Given the description of an element on the screen output the (x, y) to click on. 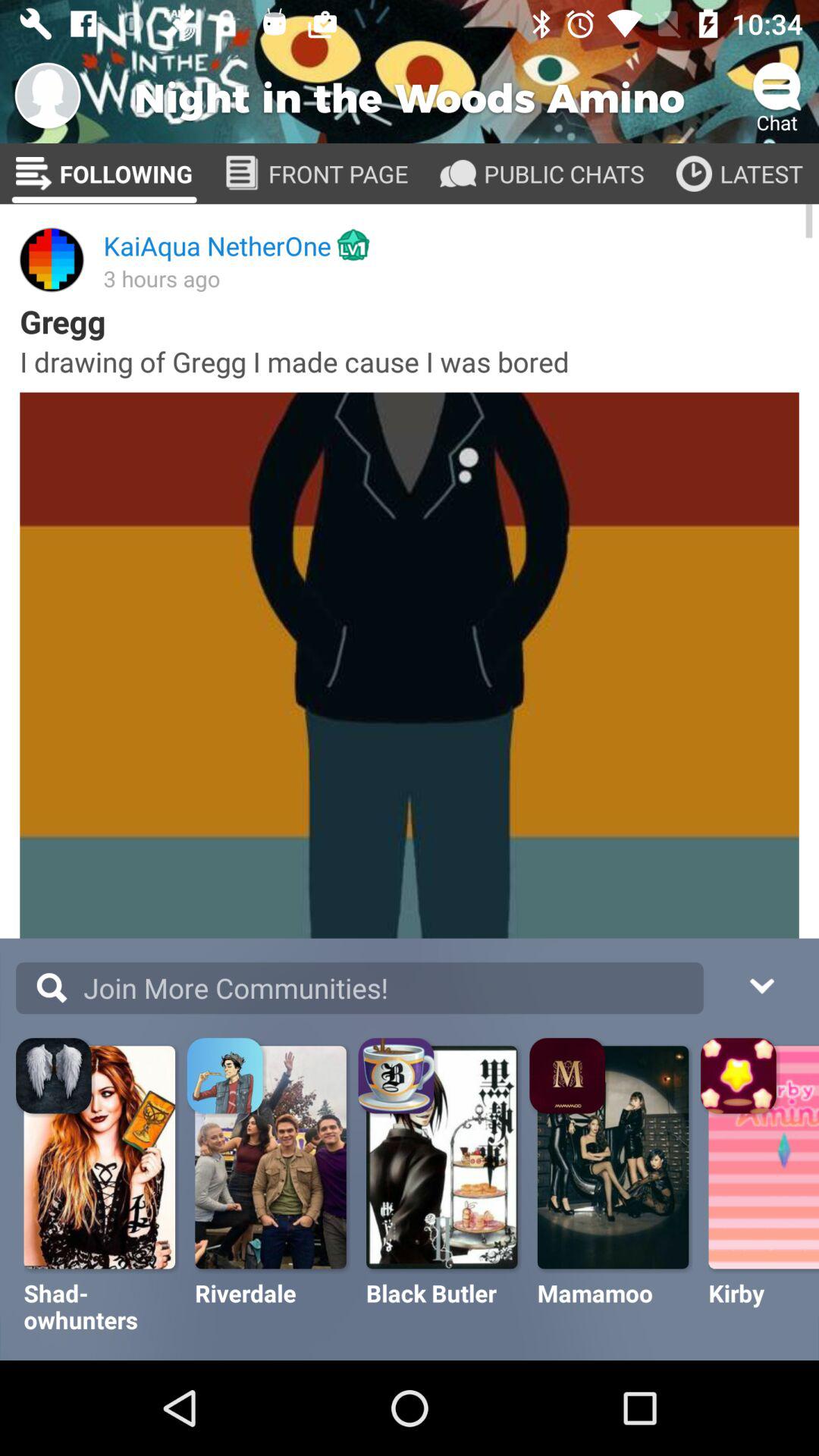
select the icon on left to the tab public chats on the web page (457, 173)
select the drop down button on the right next to search button on the web page (759, 998)
select the image on the right next to the first image on the bottom corner of the web page (226, 1078)
click on image above gregg (51, 260)
click on the image below dropdown (740, 1078)
